Given the description of an element on the screen output the (x, y) to click on. 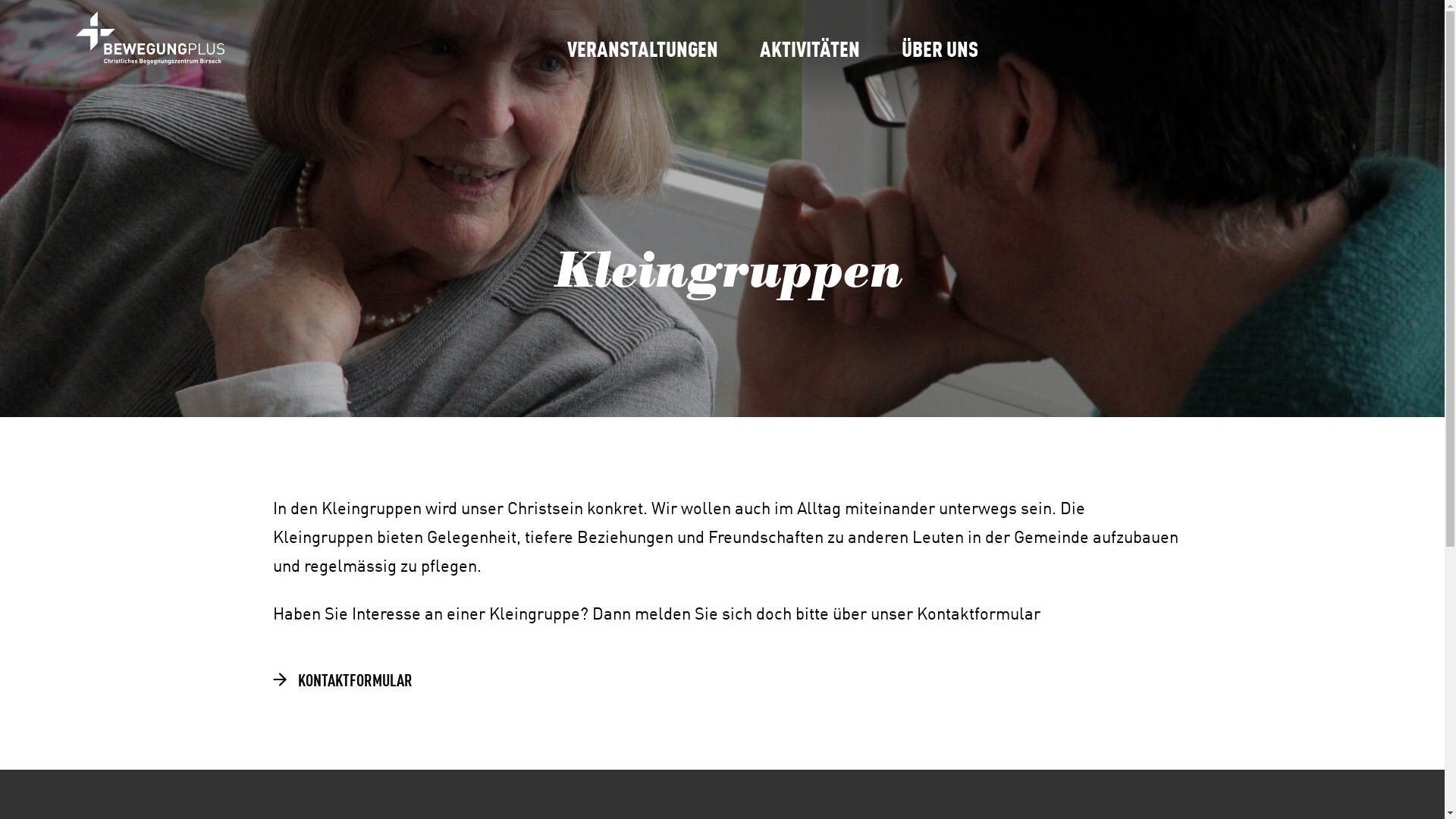
KONTAKTFORMULAR Element type: text (341, 679)
